Given the description of an element on the screen output the (x, y) to click on. 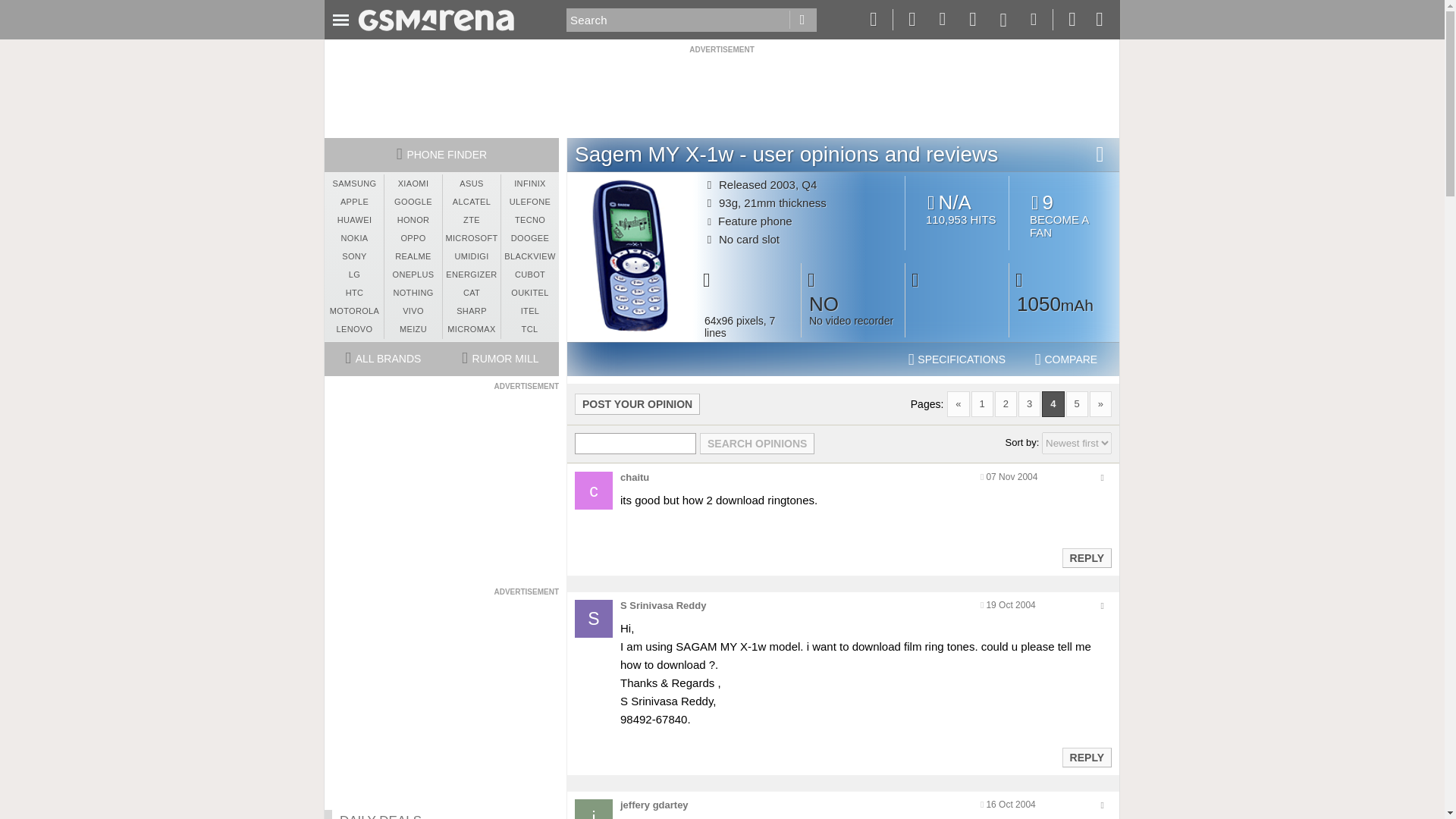
Previous page (958, 403)
Reply to this post (1086, 558)
Sagem MY X-1w phone specifications (957, 359)
Sort comments by (1077, 443)
2 (1005, 403)
3 (1029, 403)
POST YOUR OPINION (637, 403)
COMPARE (1066, 359)
Search opinions (756, 443)
1 (981, 403)
Go (802, 19)
SPECIFICATIONS (957, 359)
Next page (1100, 403)
